Given the description of an element on the screen output the (x, y) to click on. 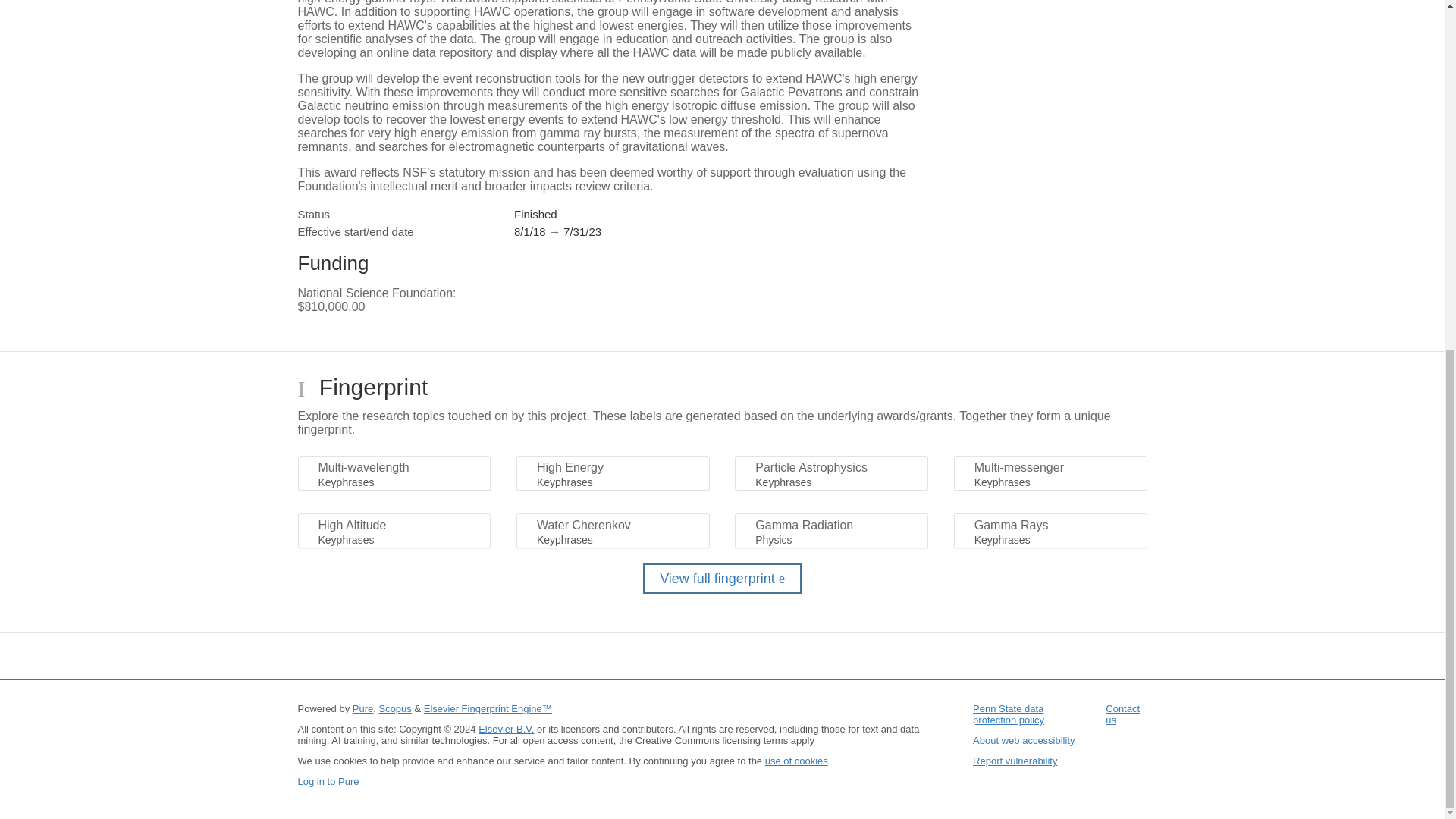
Elsevier B.V. (506, 728)
use of cookies (796, 760)
Log in to Pure (327, 781)
About web accessibility (1023, 740)
Pure (362, 708)
View full fingerprint (722, 578)
Penn State data protection policy (1007, 713)
Scopus (394, 708)
